Given the description of an element on the screen output the (x, y) to click on. 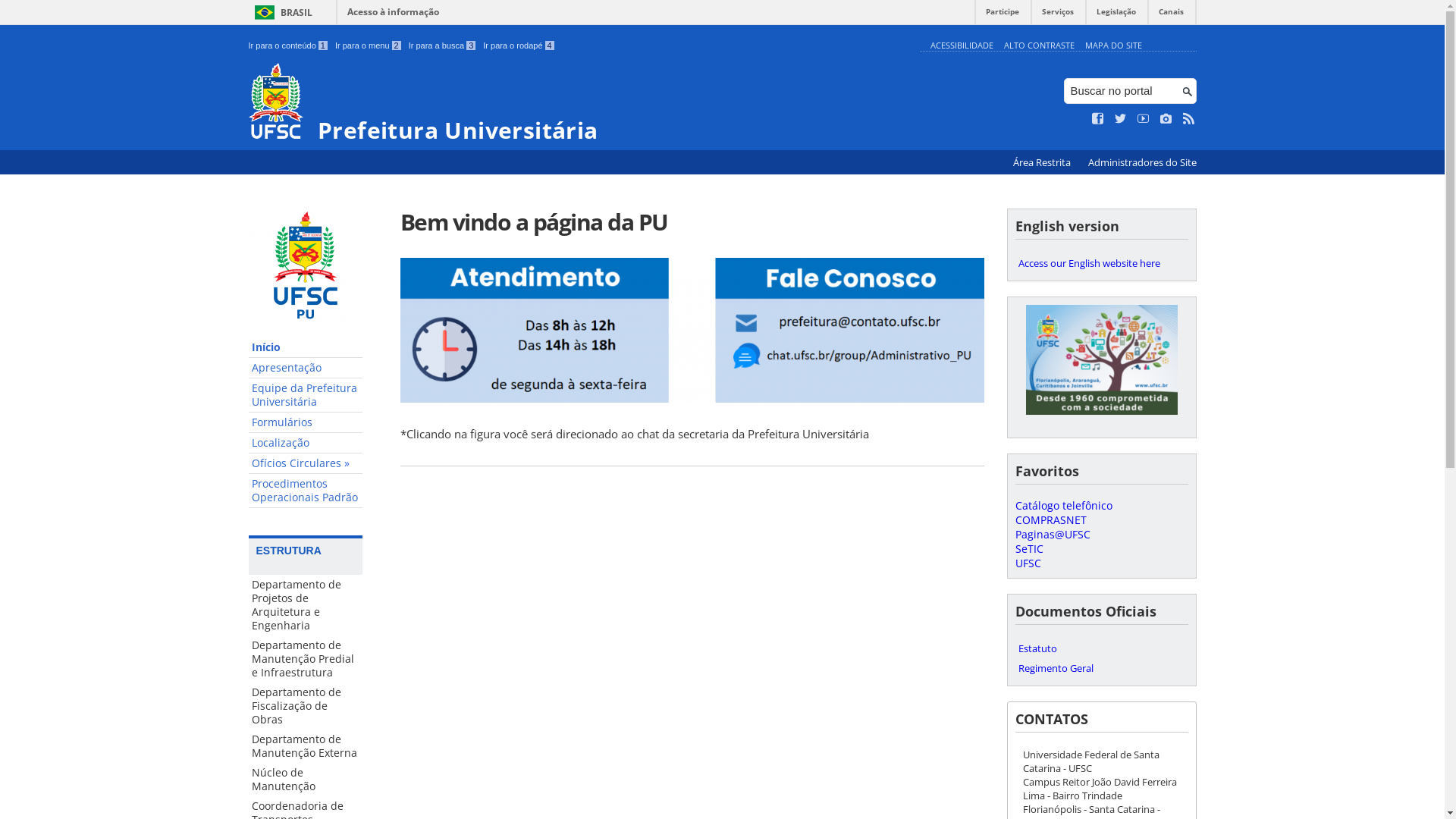
ALTO CONTRASTE Element type: text (1039, 44)
Curta no Facebook Element type: hover (1098, 118)
Ir para a busca 3 Element type: text (442, 45)
Canais Element type: text (1171, 15)
Access our English website here Element type: text (1100, 263)
Estatuto Element type: text (1100, 648)
Departamento de Projetos de Arquitetura e Engenharia Element type: text (305, 604)
UFSC Element type: text (1027, 562)
Administradores do Site Element type: text (1141, 162)
ACESSIBILIDADE Element type: text (960, 44)
Ir para o menu 2 Element type: text (368, 45)
Regimento Geral Element type: text (1100, 667)
Veja no Instagram Element type: hover (1166, 118)
Siga no Twitter Element type: hover (1120, 118)
MAPA DO SITE Element type: text (1112, 44)
Paginas@UFSC Element type: text (1051, 534)
SeTIC Element type: text (1028, 548)
COMPRASNET Element type: text (1049, 519)
Participe Element type: text (1002, 15)
BRASIL Element type: text (280, 12)
